Given the description of an element on the screen output the (x, y) to click on. 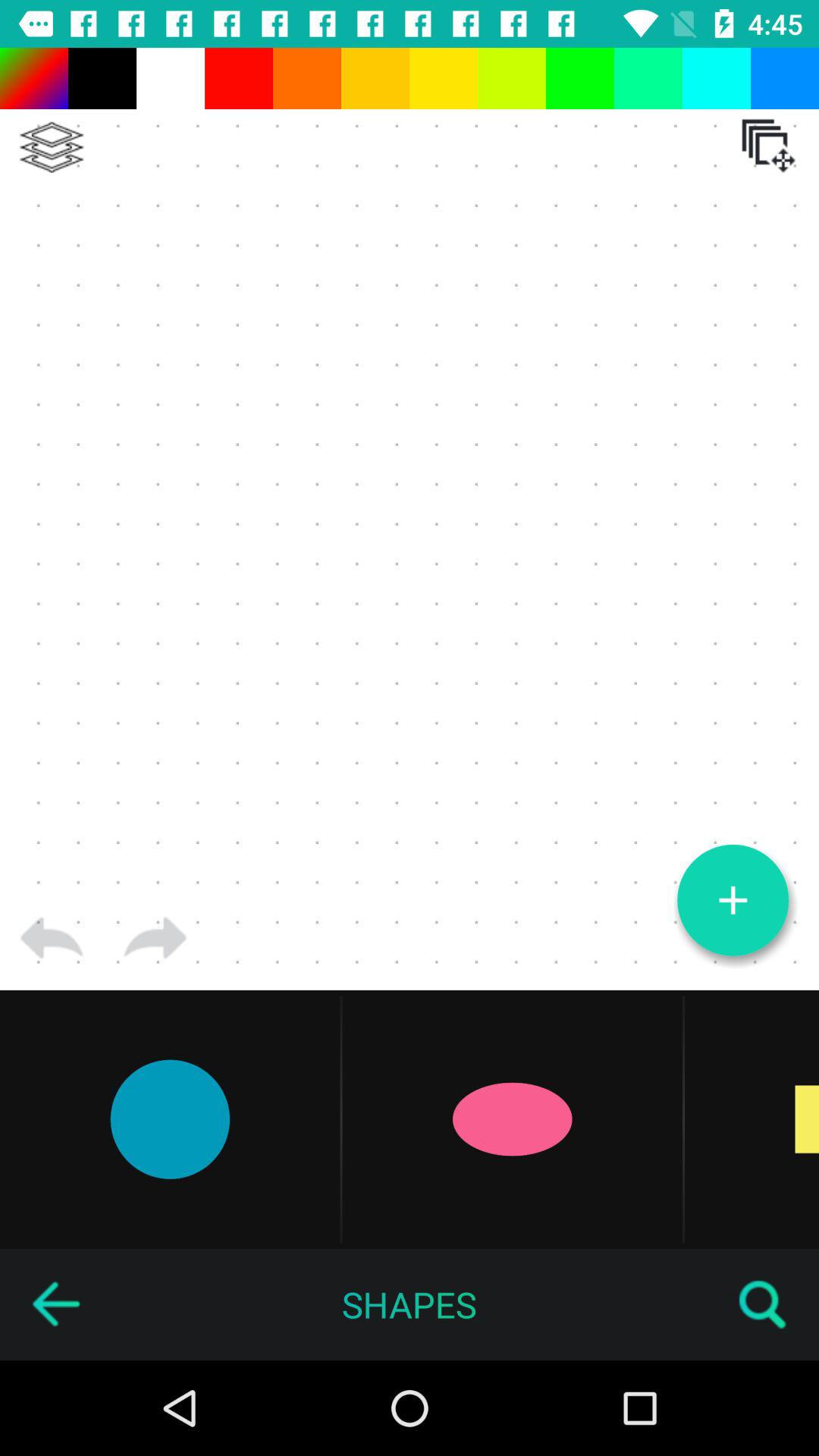
turn on the item at the center (409, 518)
